Given the description of an element on the screen output the (x, y) to click on. 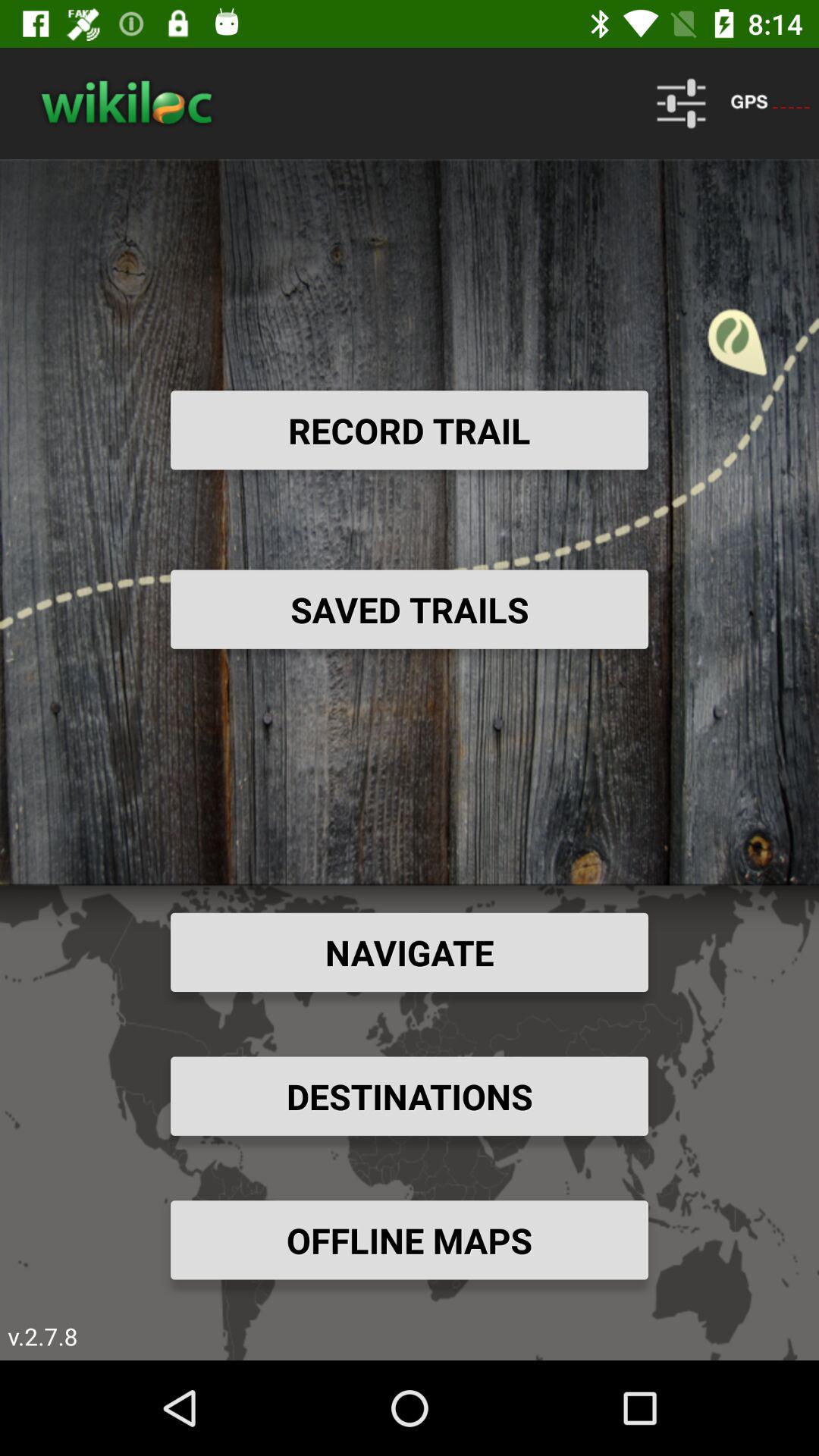
open item above navigate item (409, 608)
